Given the description of an element on the screen output the (x, y) to click on. 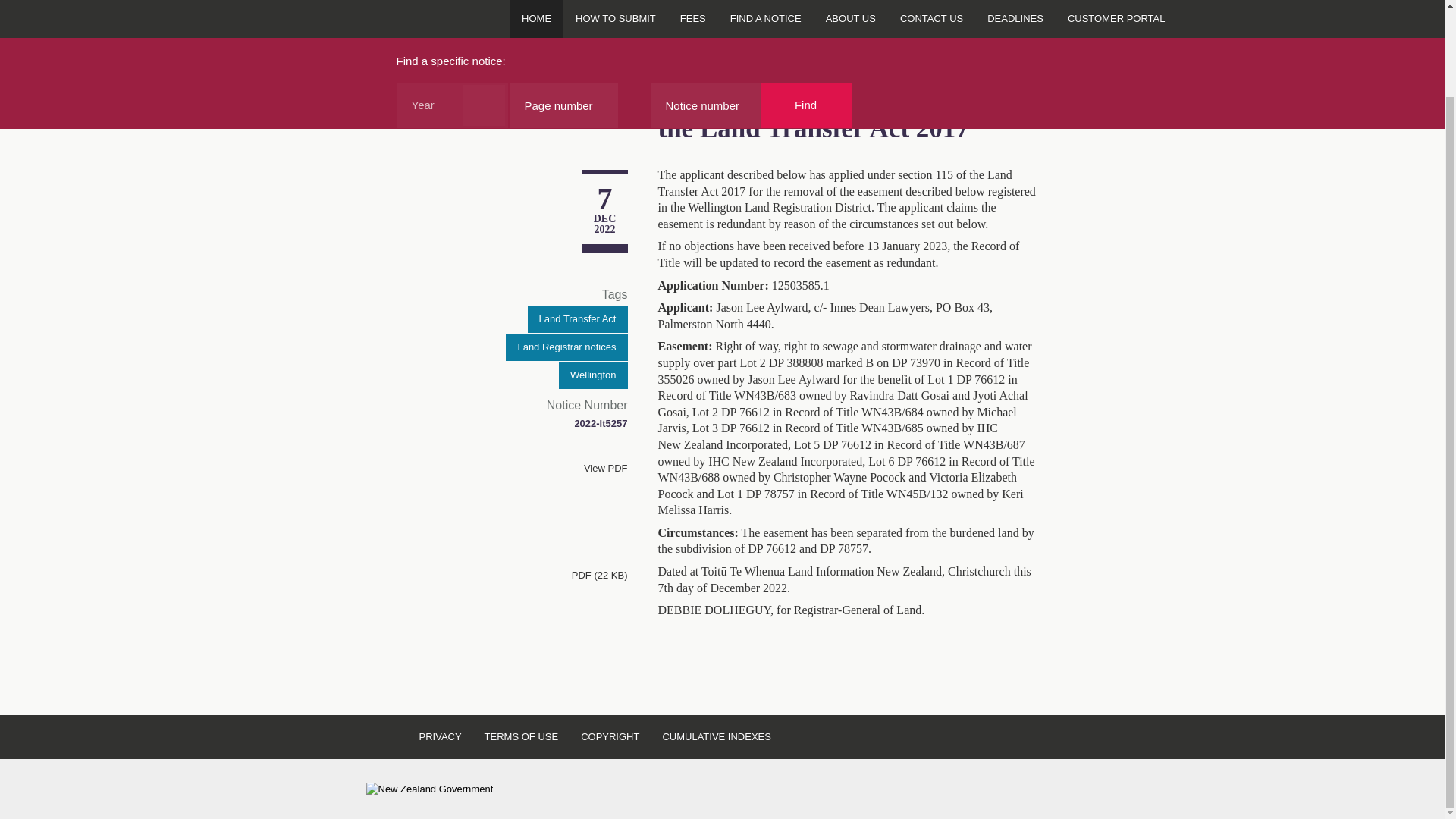
Find (805, 104)
Land Transfer Act (577, 319)
Land Registrar notices (566, 347)
Wellington (593, 375)
TERMS OF USE (521, 736)
Find (805, 104)
PRIVACY (440, 736)
COPYRIGHT (609, 736)
CUMULATIVE INDEXES (716, 736)
